Given the description of an element on the screen output the (x, y) to click on. 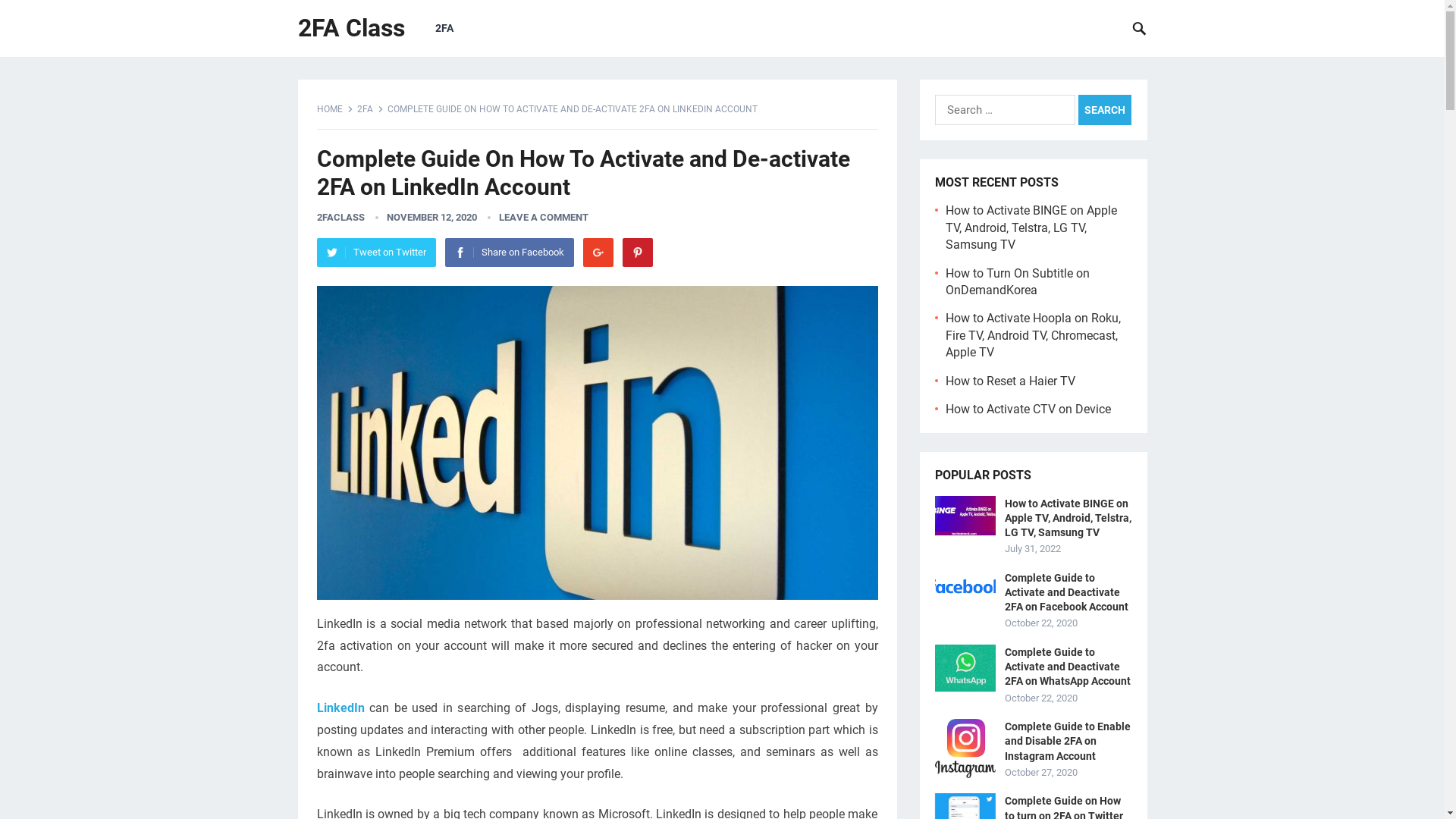
2FA Element type: text (443, 28)
2FACLASS Element type: text (340, 216)
How to Activate CTV on Device Element type: text (1027, 408)
LEAVE A COMMENT Element type: text (543, 216)
How to Reset a Haier TV Element type: text (1009, 380)
2FA Class Element type: text (350, 28)
HOME Element type: text (334, 108)
Search Element type: text (1104, 109)
Google+ Element type: text (597, 252)
LinkedIn Element type: text (340, 707)
Tweet on Twitter Element type: text (376, 252)
Share on Facebook Element type: text (508, 252)
How to Turn On Subtitle on OnDemandKorea Element type: text (1016, 281)
2FA Element type: text (369, 108)
Pinterest Element type: text (636, 252)
